Given the description of an element on the screen output the (x, y) to click on. 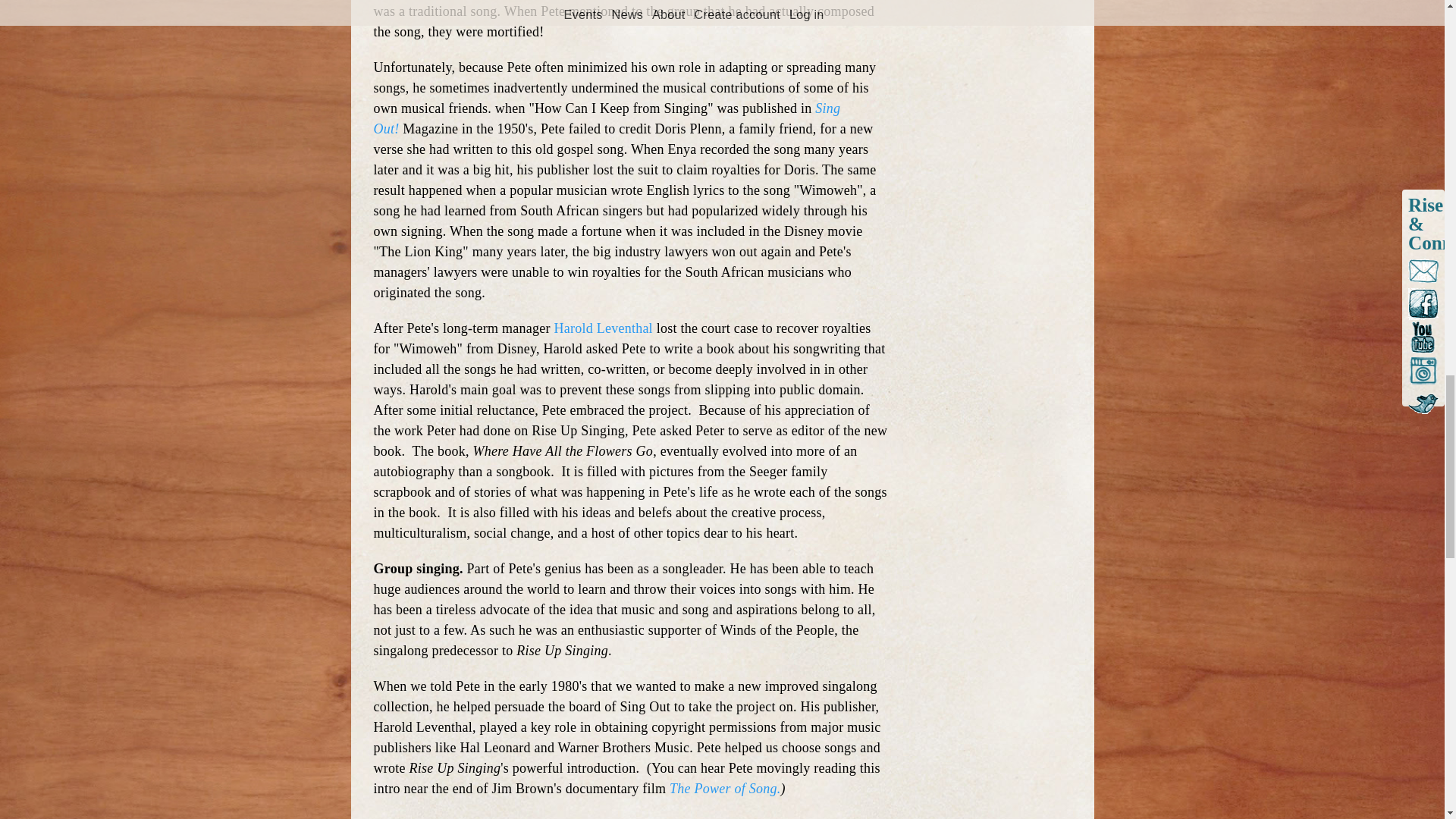
The Power of Song. (724, 788)
Harold Leventhal  (604, 327)
Sing Out! (606, 117)
